Given the description of an element on the screen output the (x, y) to click on. 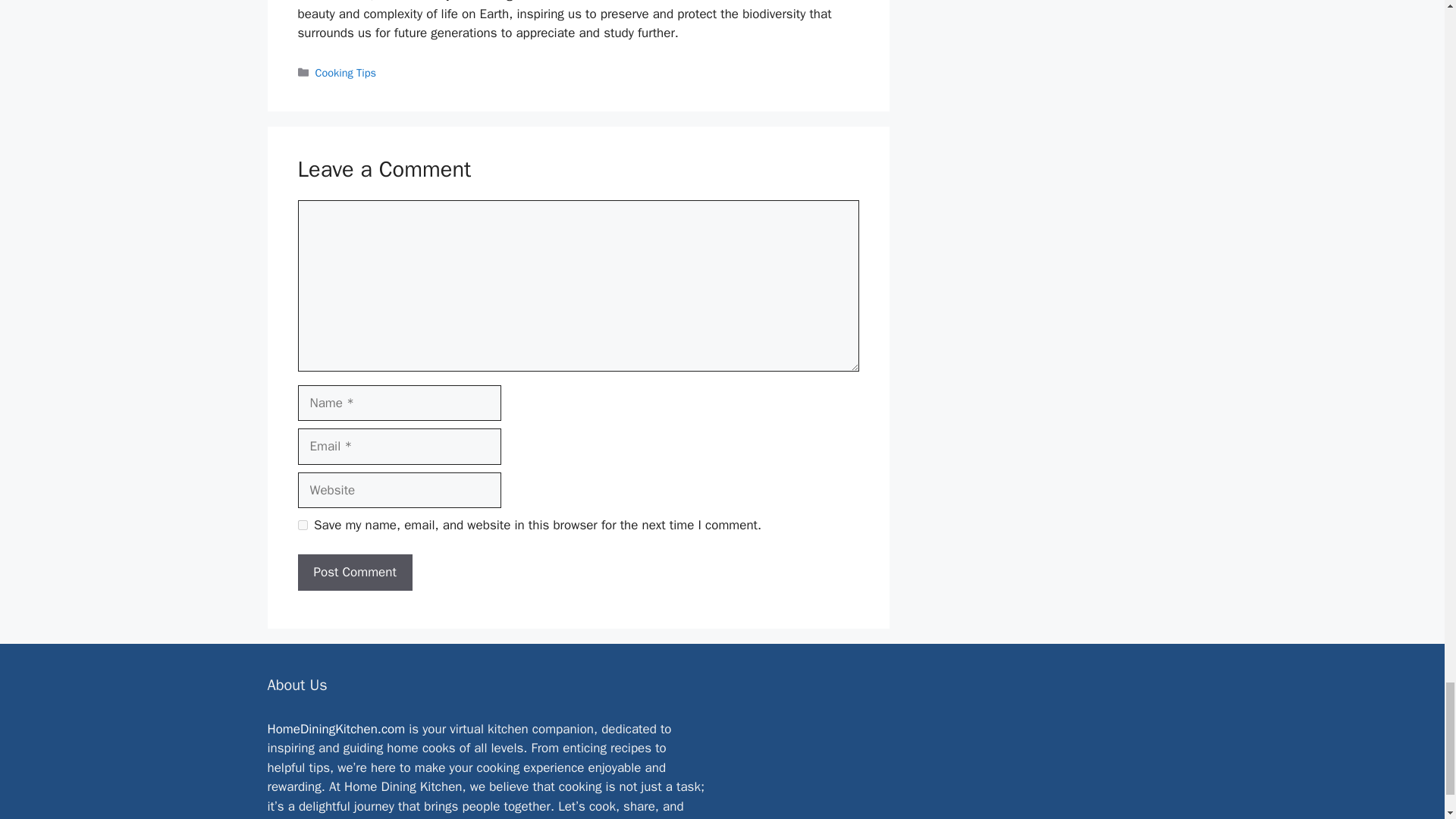
yes (302, 524)
Post Comment (354, 572)
HomeDiningKitchen.com (335, 729)
Cooking Tips (345, 72)
Post Comment (354, 572)
